Given the description of an element on the screen output the (x, y) to click on. 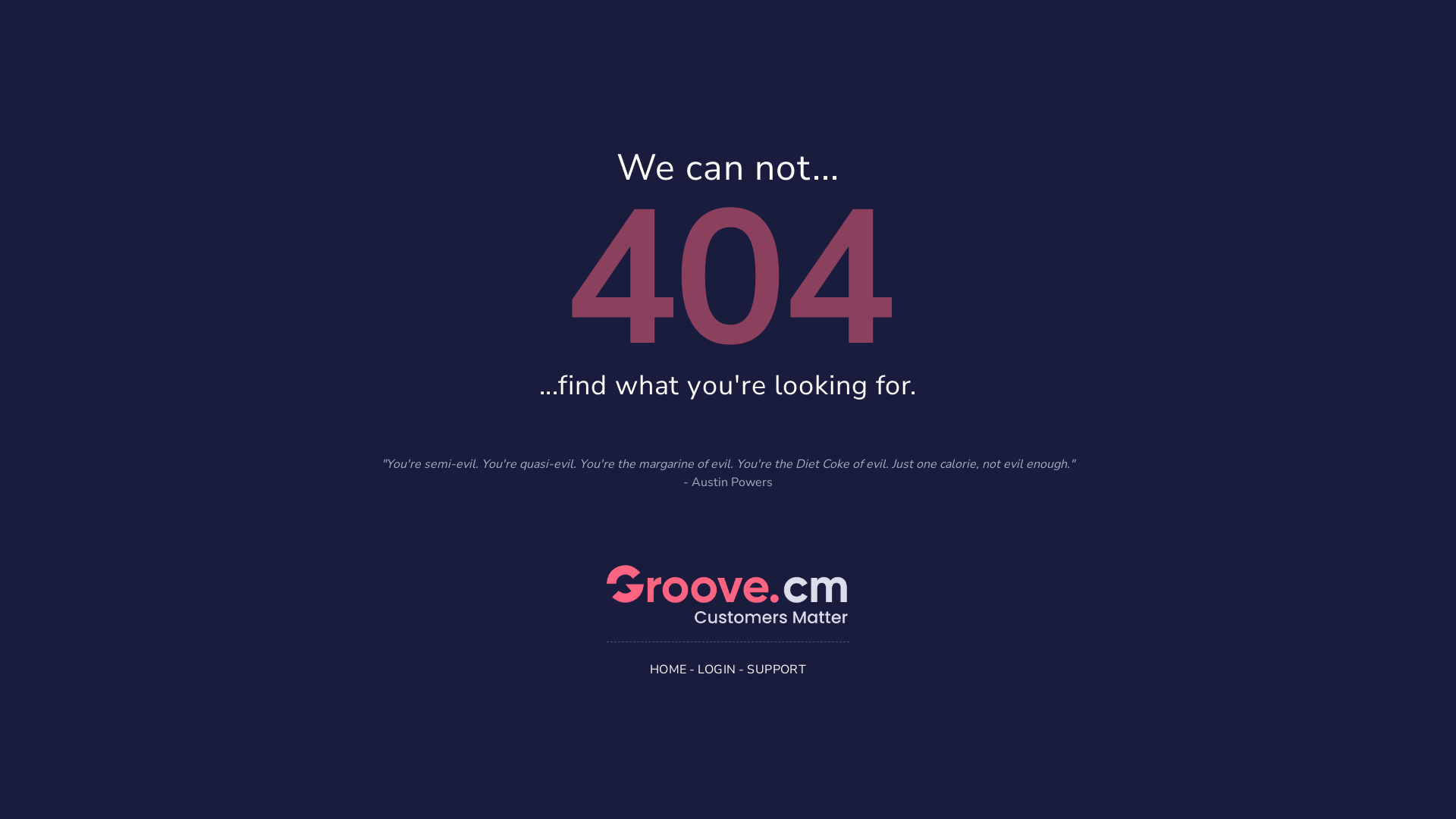
HOME Element type: text (668, 669)
SUPPORT Element type: text (776, 669)
LOGIN Element type: text (716, 669)
